Given the description of an element on the screen output the (x, y) to click on. 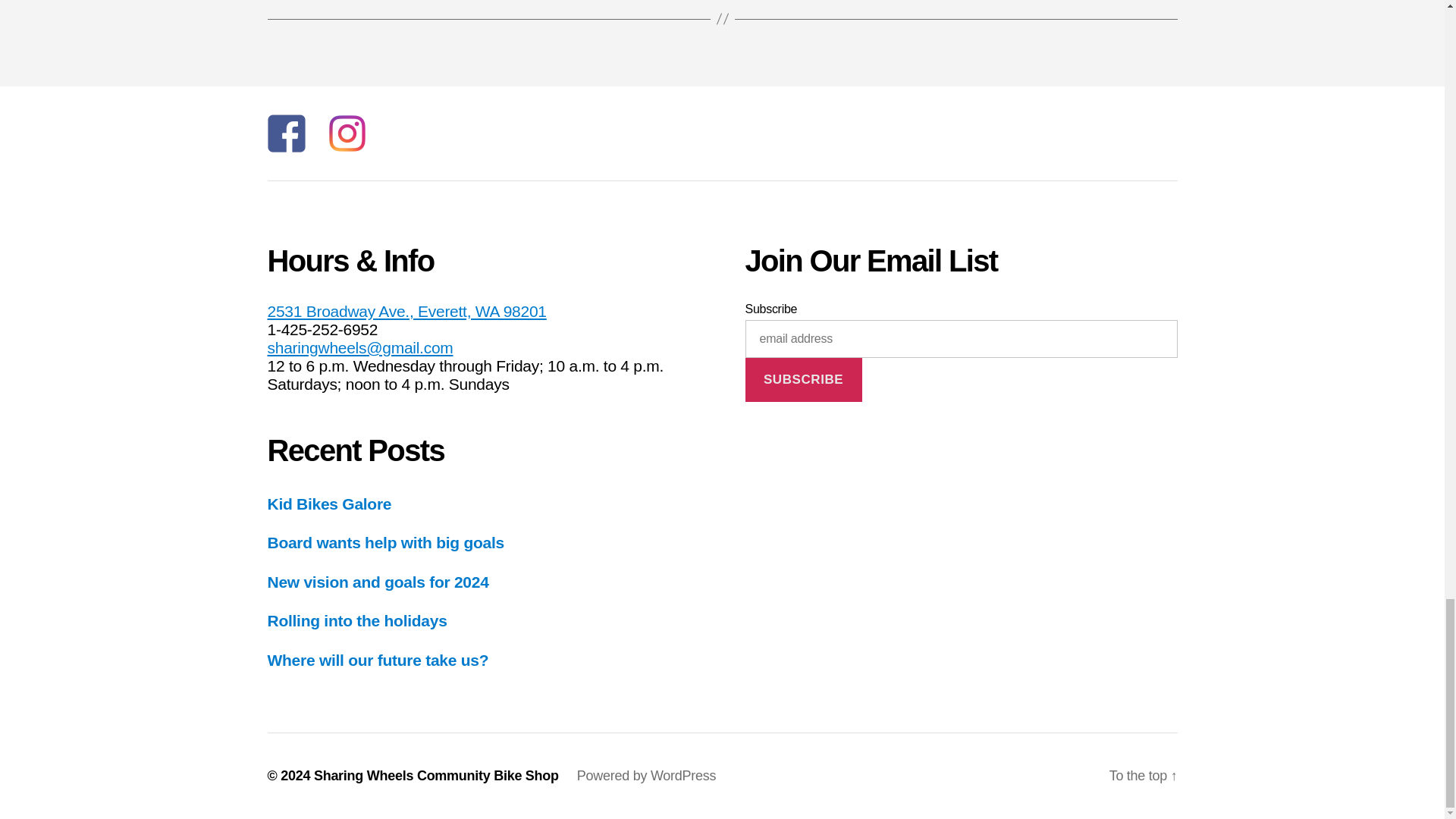
Subscribe (802, 379)
